Given the description of an element on the screen output the (x, y) to click on. 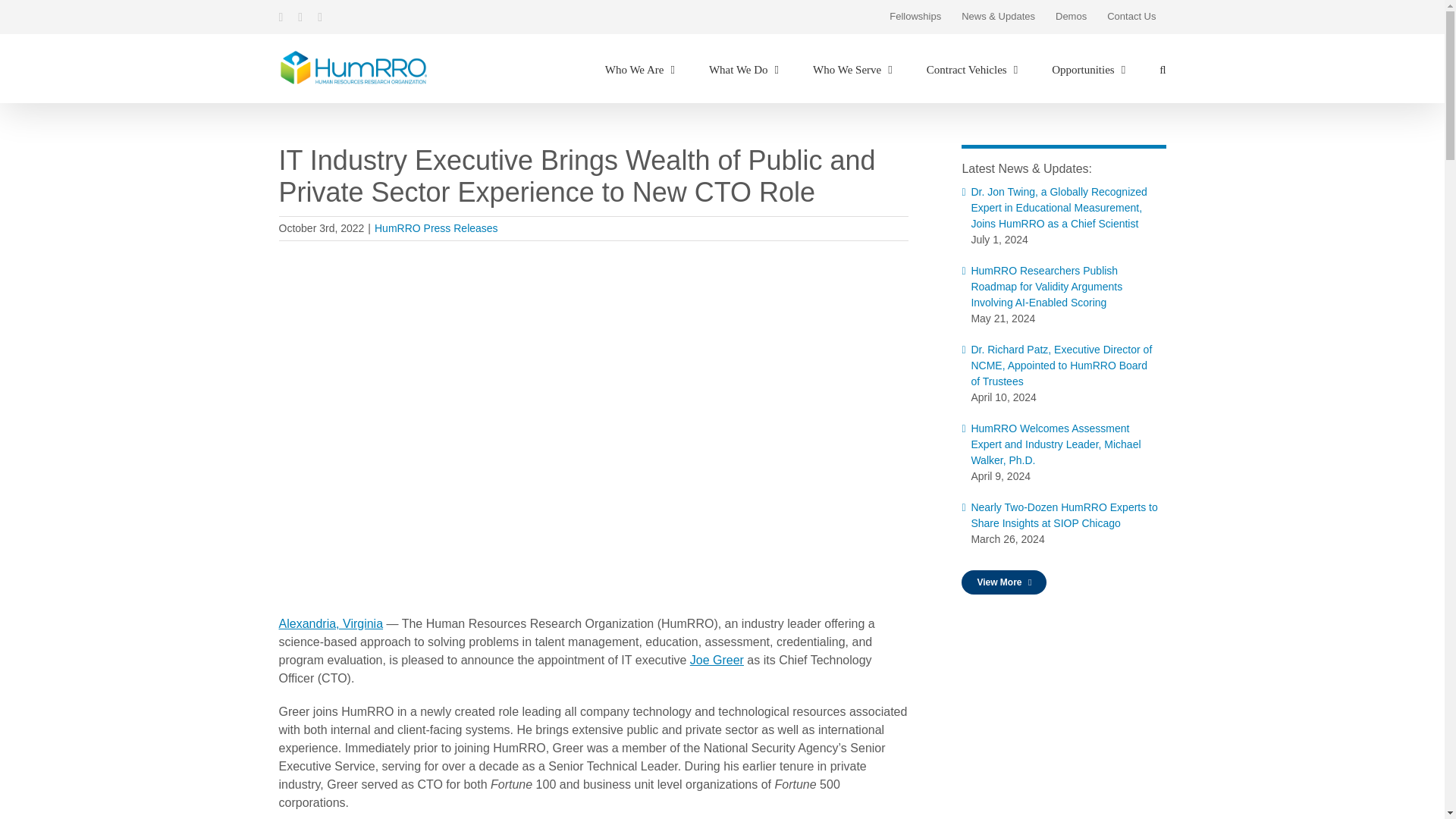
Fellowships (914, 16)
Opportunities (1088, 67)
Contract Vehicles (971, 67)
Who We Are (640, 67)
Who We Serve (852, 67)
What We Do (743, 67)
Contact Us (1131, 16)
Demos (1070, 16)
